Given the description of an element on the screen output the (x, y) to click on. 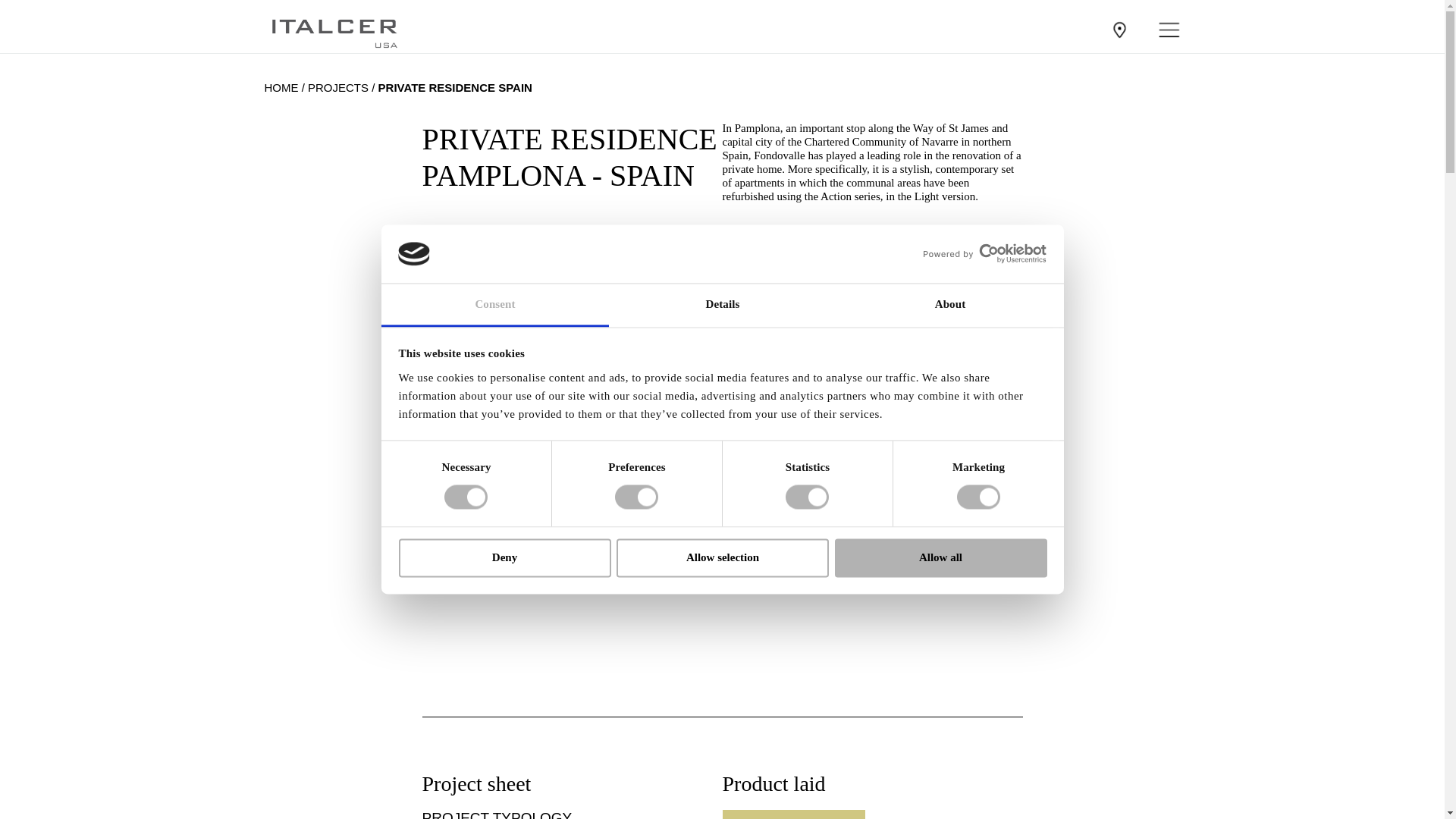
Details (721, 304)
About (948, 304)
Allow all (940, 557)
Allow selection (721, 557)
Deny (503, 557)
Consent (494, 304)
Contacts (1119, 29)
